Given the description of an element on the screen output the (x, y) to click on. 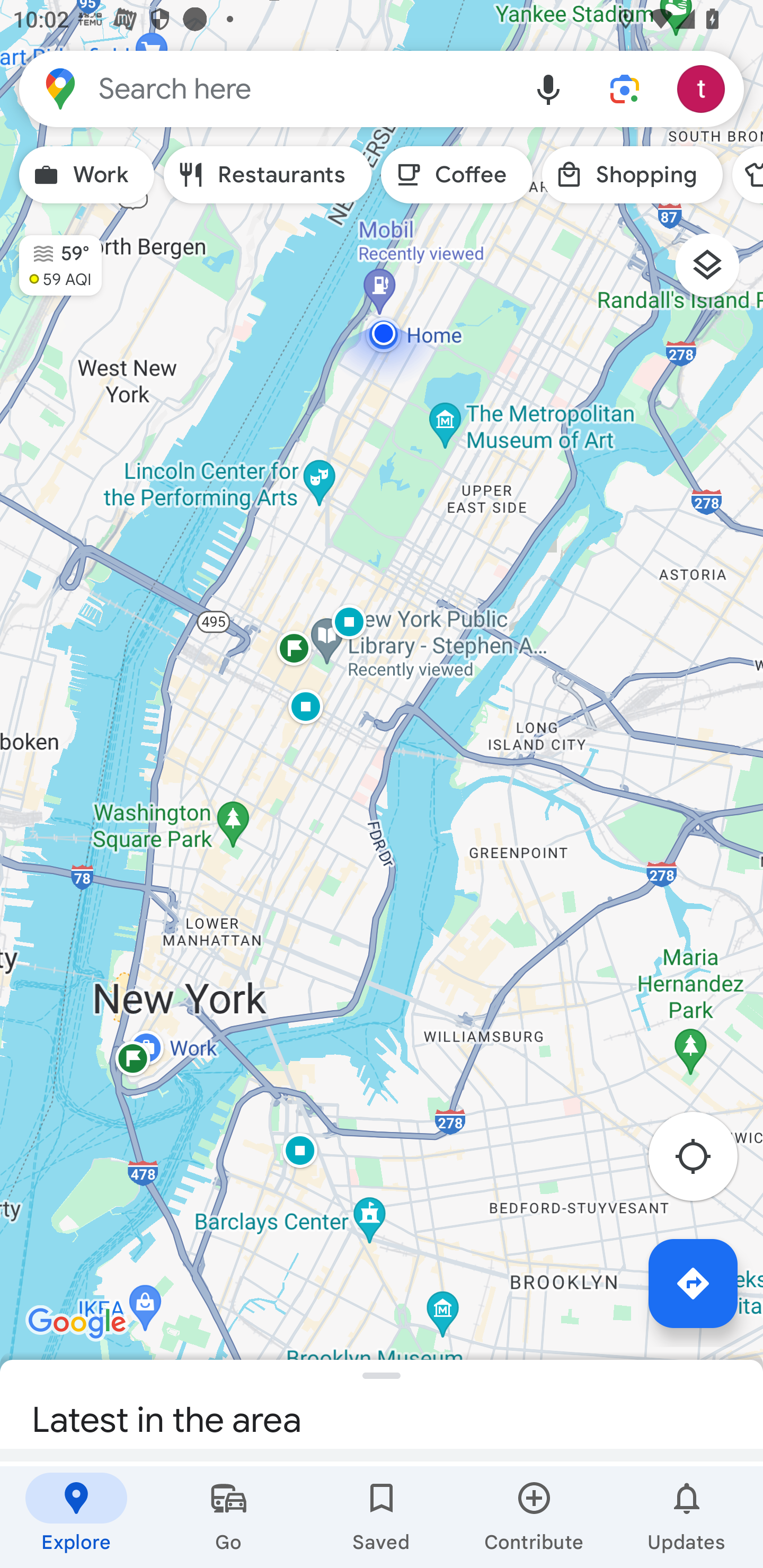
Search here (264, 88)
Voice search (548, 88)
Lens in Maps (624, 88)
Work (86, 174)
Restaurants Search for Restaurants (267, 174)
Coffee Search for Coffee (456, 174)
Shopping Search for Shopping (631, 174)
Mist, 59°, Moderate, 59 AQI 59° 59 AQI (50, 257)
Layers (716, 271)
Re-center map to your location (702, 1161)
Directions (692, 1283)
Go (228, 1517)
Saved (381, 1517)
Contribute (533, 1517)
Updates (686, 1517)
